Given the description of an element on the screen output the (x, y) to click on. 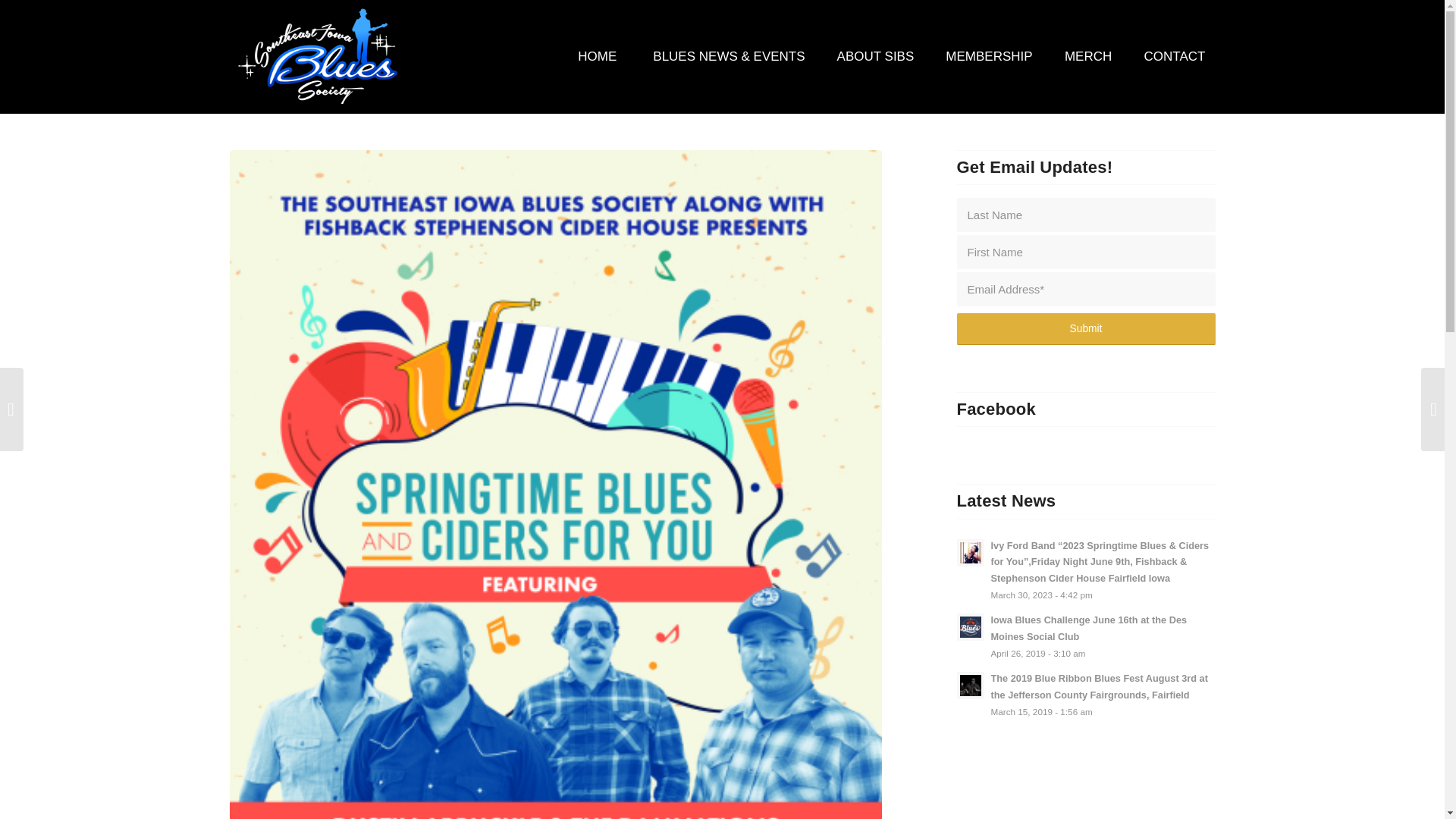
MEMBERSHIP (988, 56)
Submit (1085, 328)
Submit (1085, 328)
SIBS-Logo-Vector-Reversed (317, 56)
Iowa Blues Challenge June 16th at the Des Moines Social Club (1085, 635)
